Given the description of an element on the screen output the (x, y) to click on. 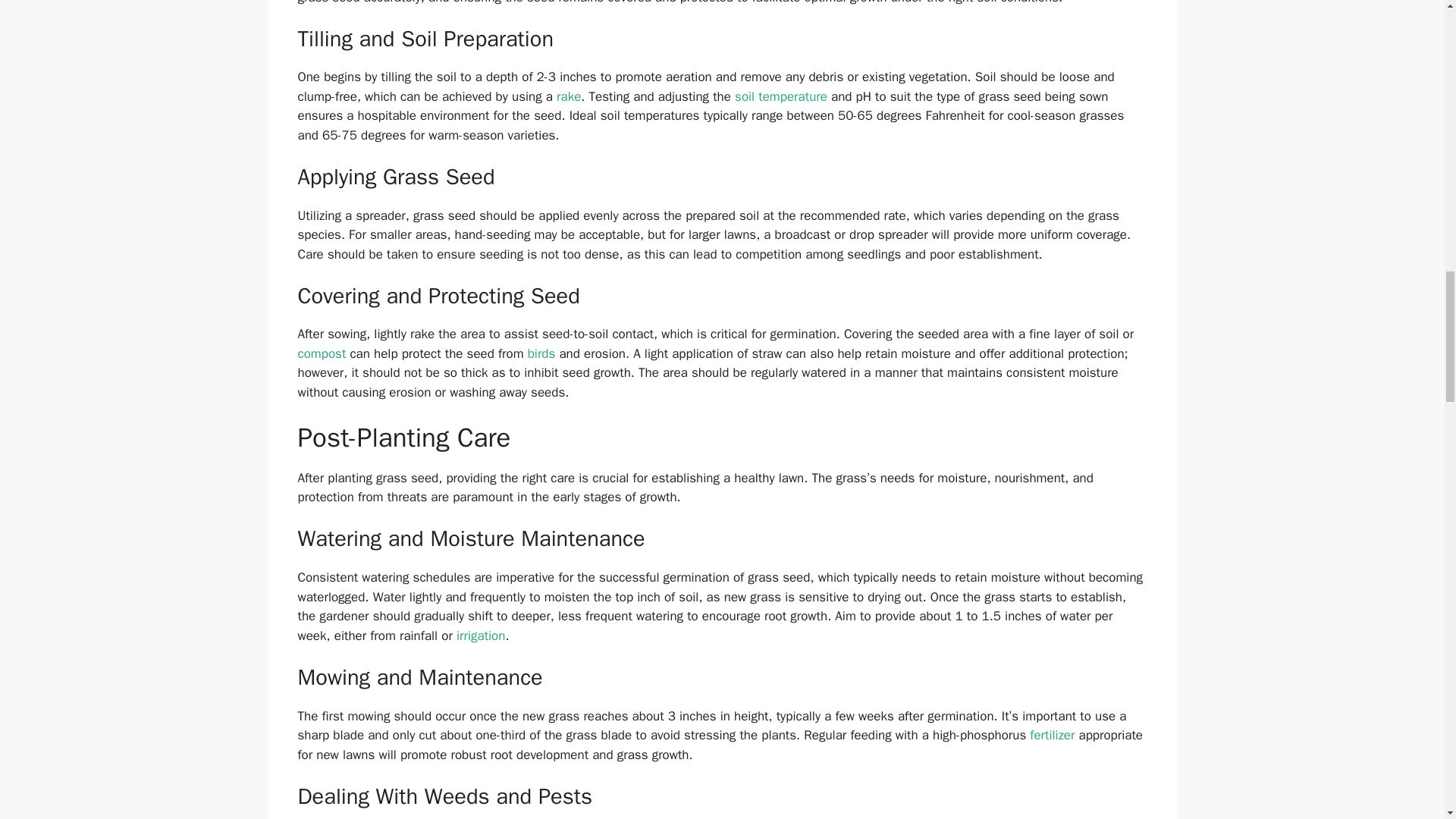
fertilizer (1051, 734)
birds (541, 353)
irrigation (481, 635)
soil temperature (781, 96)
compost (321, 353)
rake (568, 96)
